Given the description of an element on the screen output the (x, y) to click on. 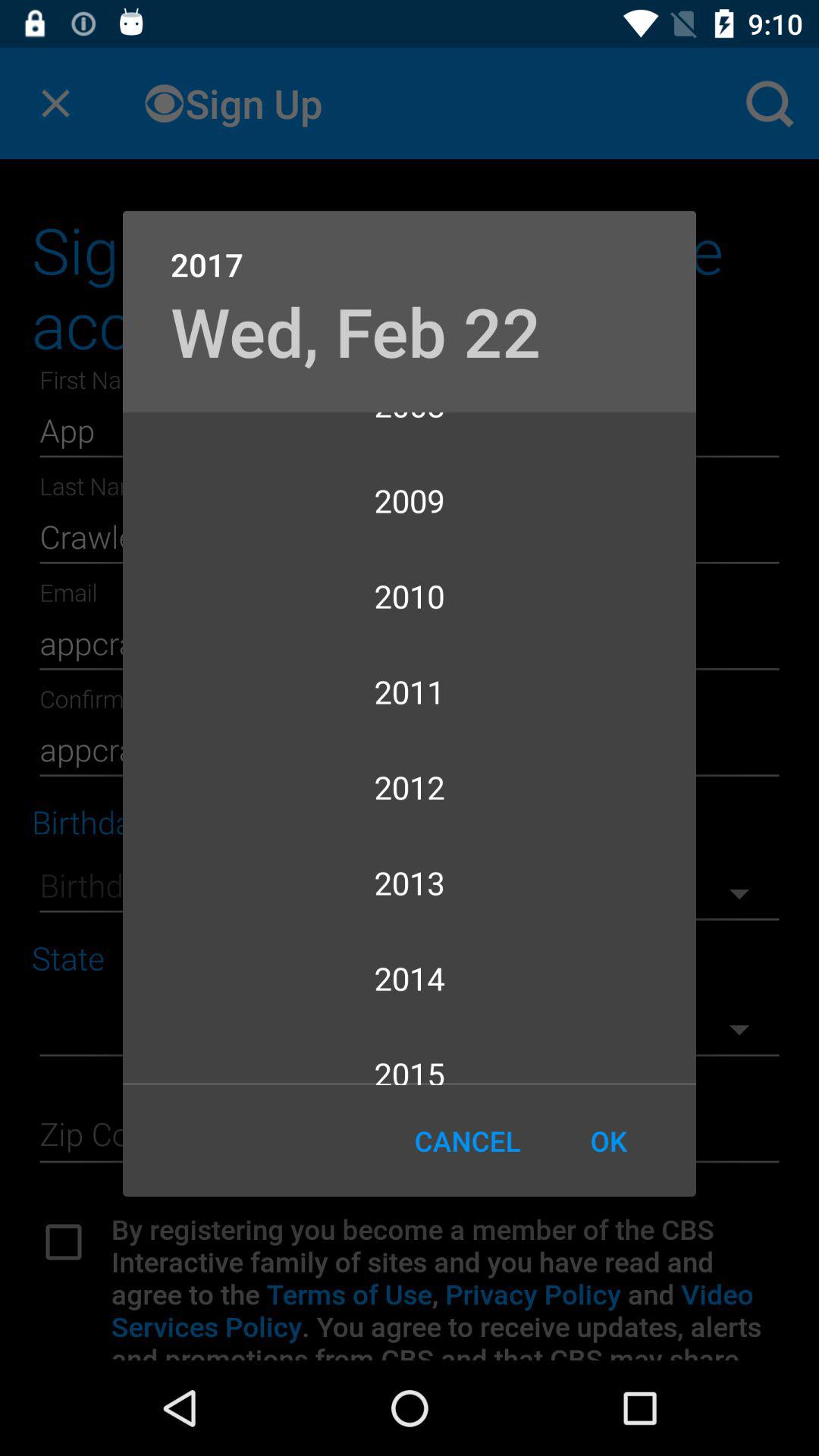
click item above the 2008 icon (355, 331)
